Given the description of an element on the screen output the (x, y) to click on. 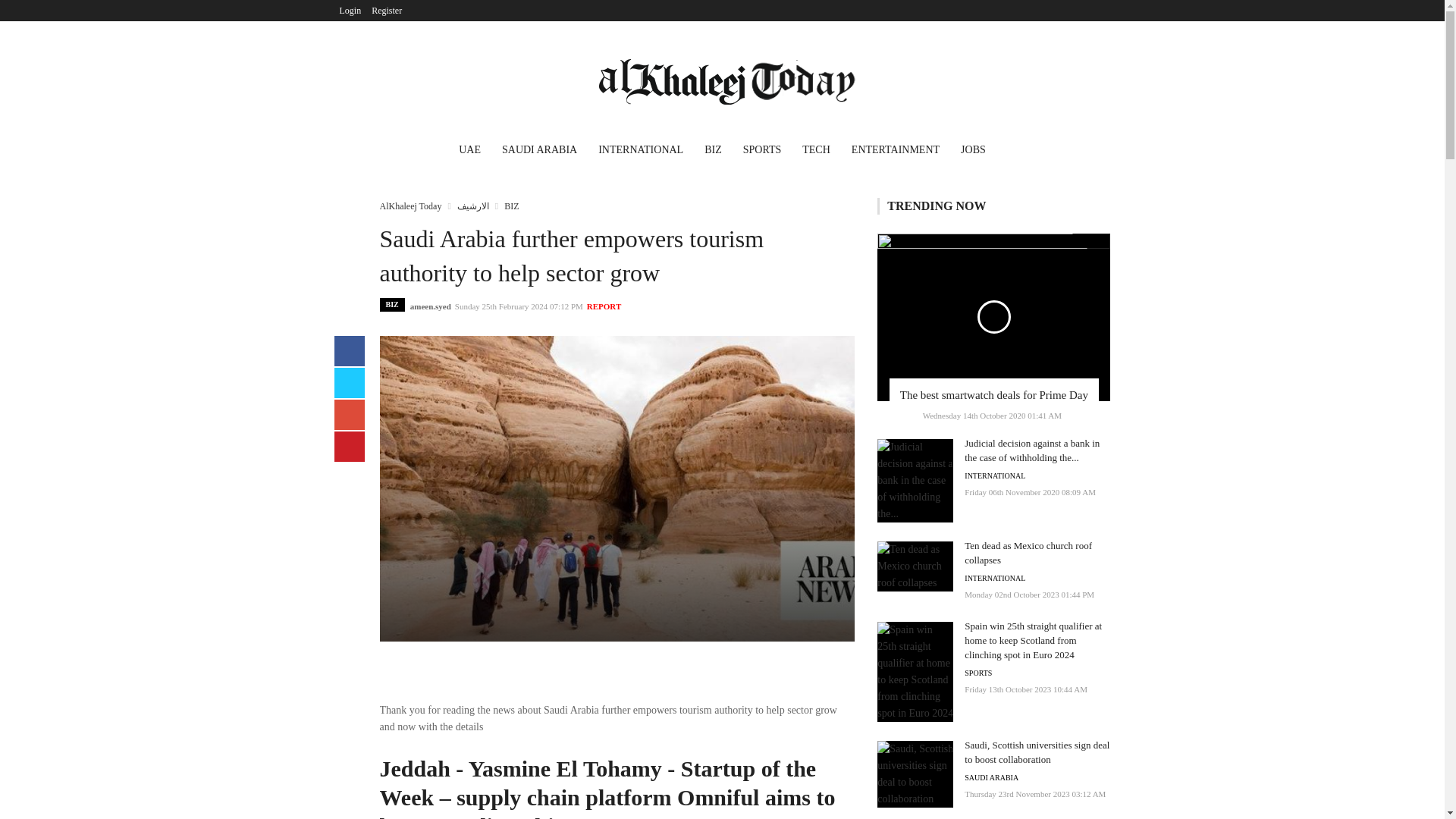
REPORT (603, 306)
BIZ (713, 151)
Login (349, 10)
Register (386, 10)
BIZ (391, 305)
ENTERTAINMENT (895, 151)
SAUDI ARABIA (540, 151)
UAE (470, 151)
BIZ (510, 205)
TECH (816, 151)
INTERNATIONAL (641, 151)
SPORTS (762, 151)
AlKhaleej Today (409, 205)
JOBS (972, 151)
ameen.syed (430, 306)
